Given the description of an element on the screen output the (x, y) to click on. 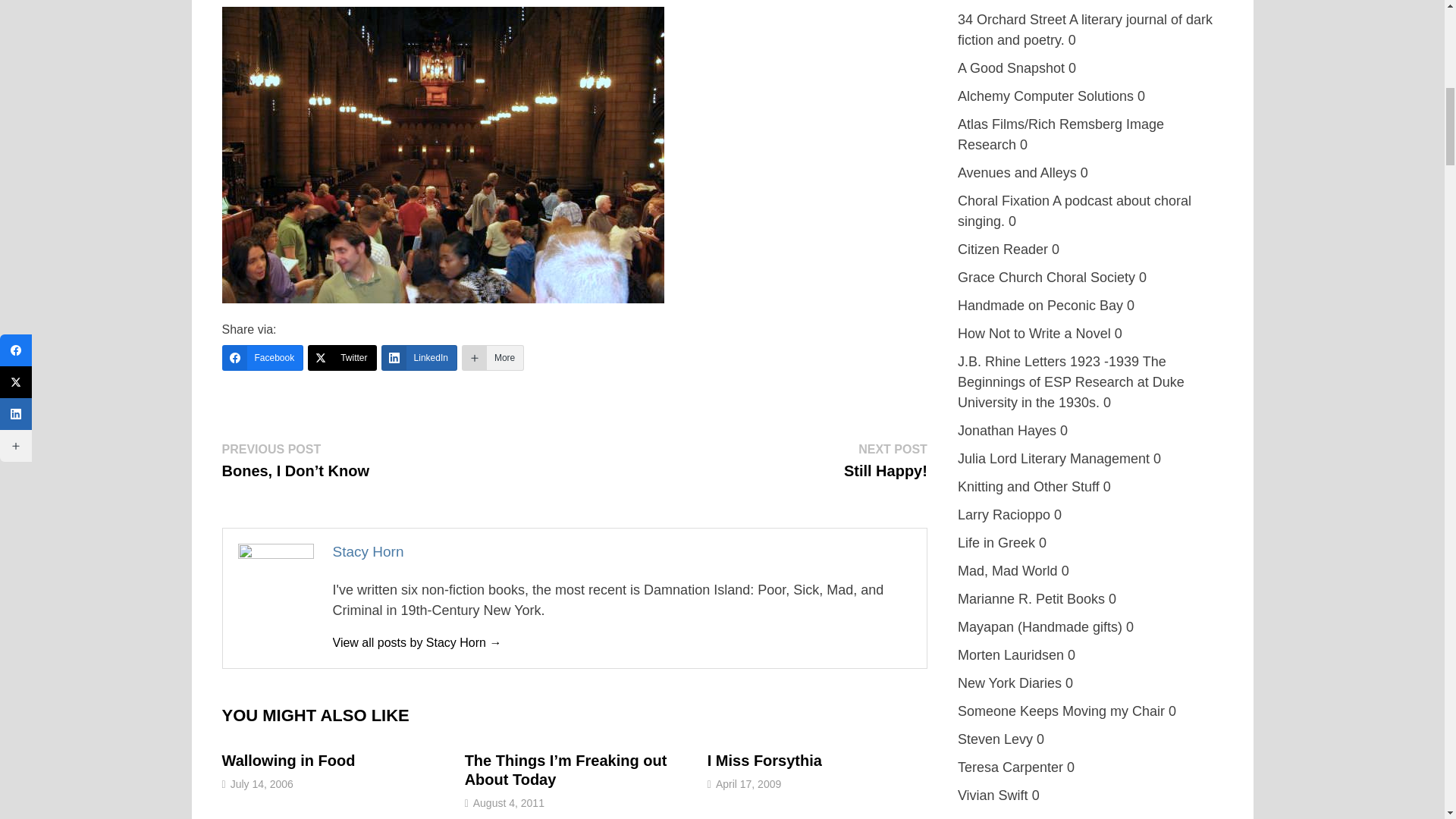
A literary journal of dark fiction and poetry. (1011, 19)
Facebook (261, 357)
I Miss Forsythia (764, 760)
Wallowing in Food (288, 760)
I Miss Forsythia (764, 760)
choir2 (442, 154)
July 14, 2006 (262, 784)
April 17, 2009 (748, 784)
Wallowing in Food (288, 760)
LinkedIn (419, 357)
More (492, 357)
Stacy Horn (885, 460)
August 4, 2011 (415, 642)
